Given the description of an element on the screen output the (x, y) to click on. 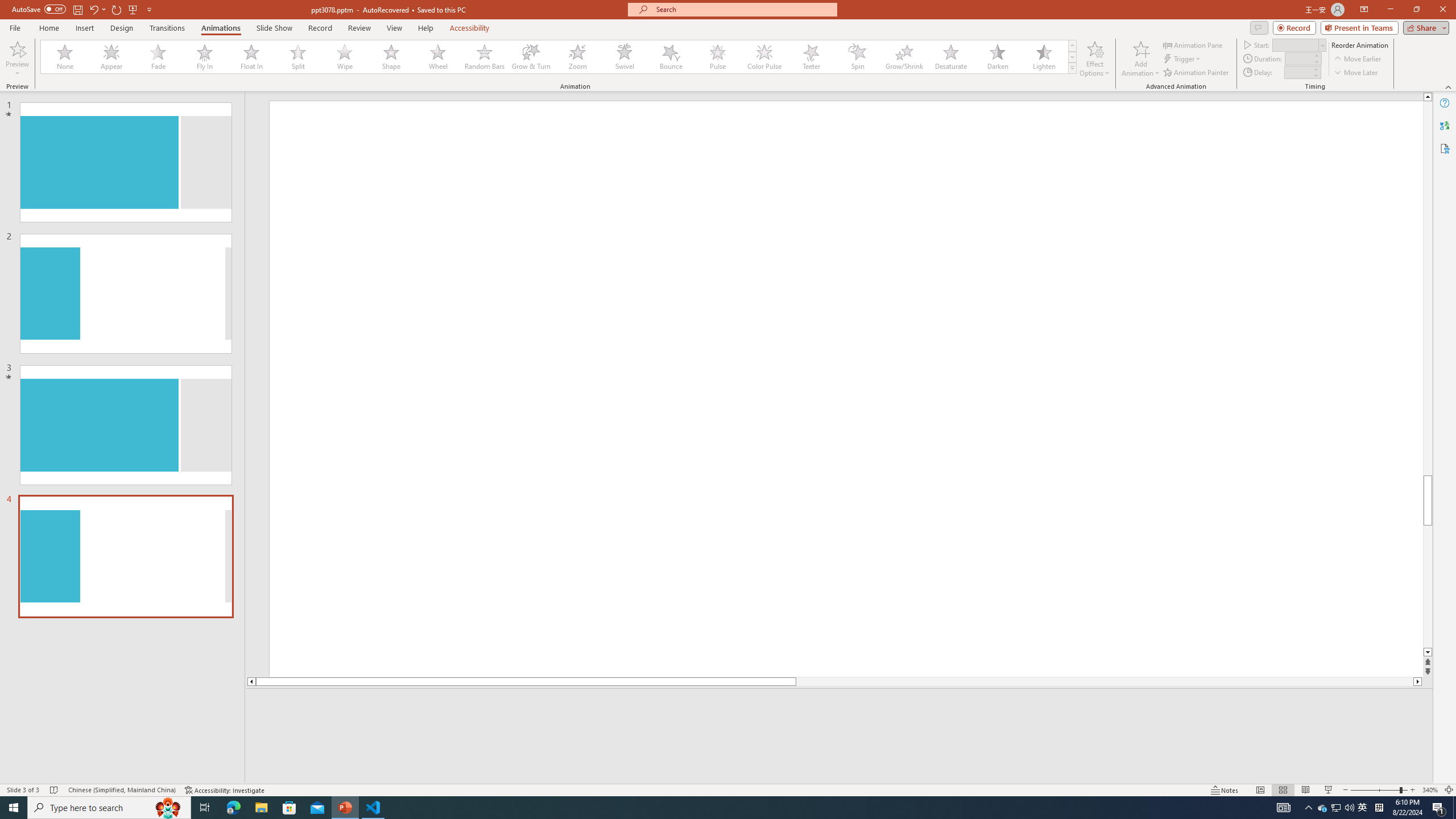
Pulse (717, 56)
Animation Painter (1196, 72)
Wipe (344, 56)
None (65, 56)
Grow/Shrink (903, 56)
Teeter (810, 56)
Animation Pane (1193, 44)
